Given the description of an element on the screen output the (x, y) to click on. 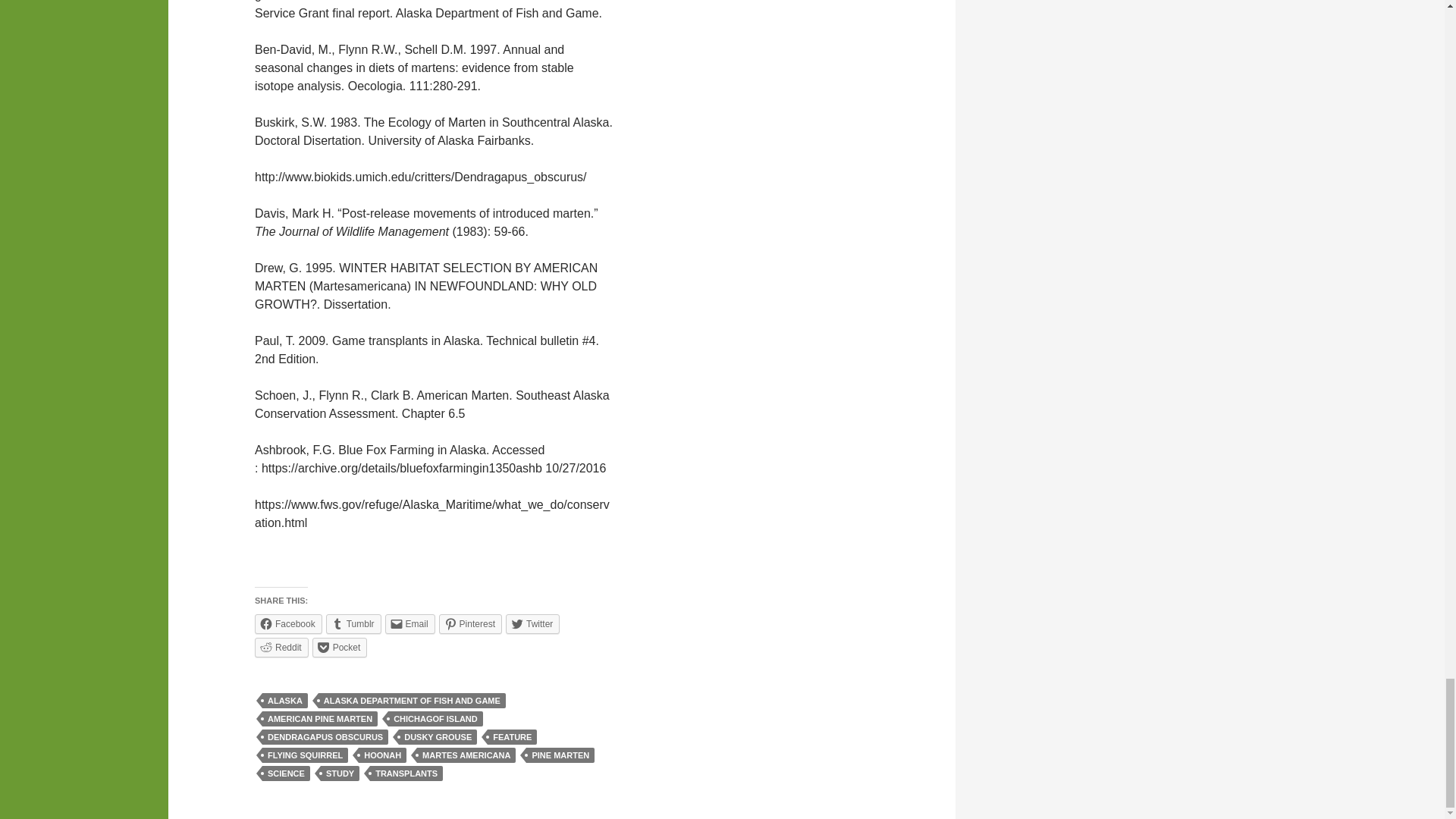
Twitter (532, 623)
Click to share on Pinterest (470, 623)
Click to share on Tumblr (353, 623)
Email (410, 623)
Click to share on Pocket (340, 647)
Click to email this to a friend (410, 623)
Click to share on Reddit (281, 647)
Facebook (287, 623)
Tumblr (353, 623)
Click to share on Twitter (532, 623)
Click to share on Facebook (287, 623)
Pinterest (470, 623)
